Given the description of an element on the screen output the (x, y) to click on. 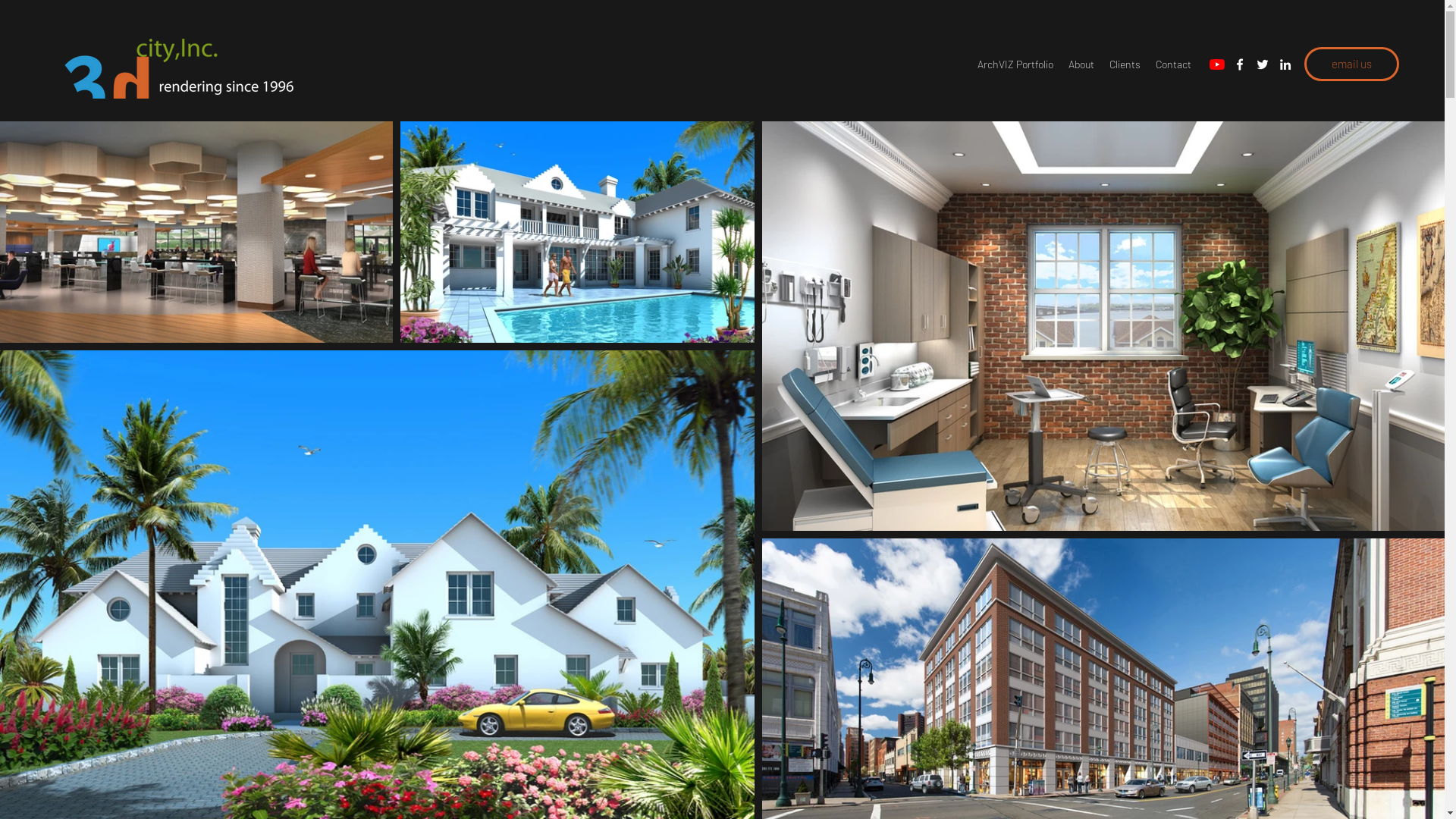
Clients Element type: text (1124, 64)
email us Element type: text (1351, 64)
Contact Element type: text (1173, 64)
ArchVIZ Portfolio Element type: text (1014, 64)
About Element type: text (1080, 64)
